Given the description of an element on the screen output the (x, y) to click on. 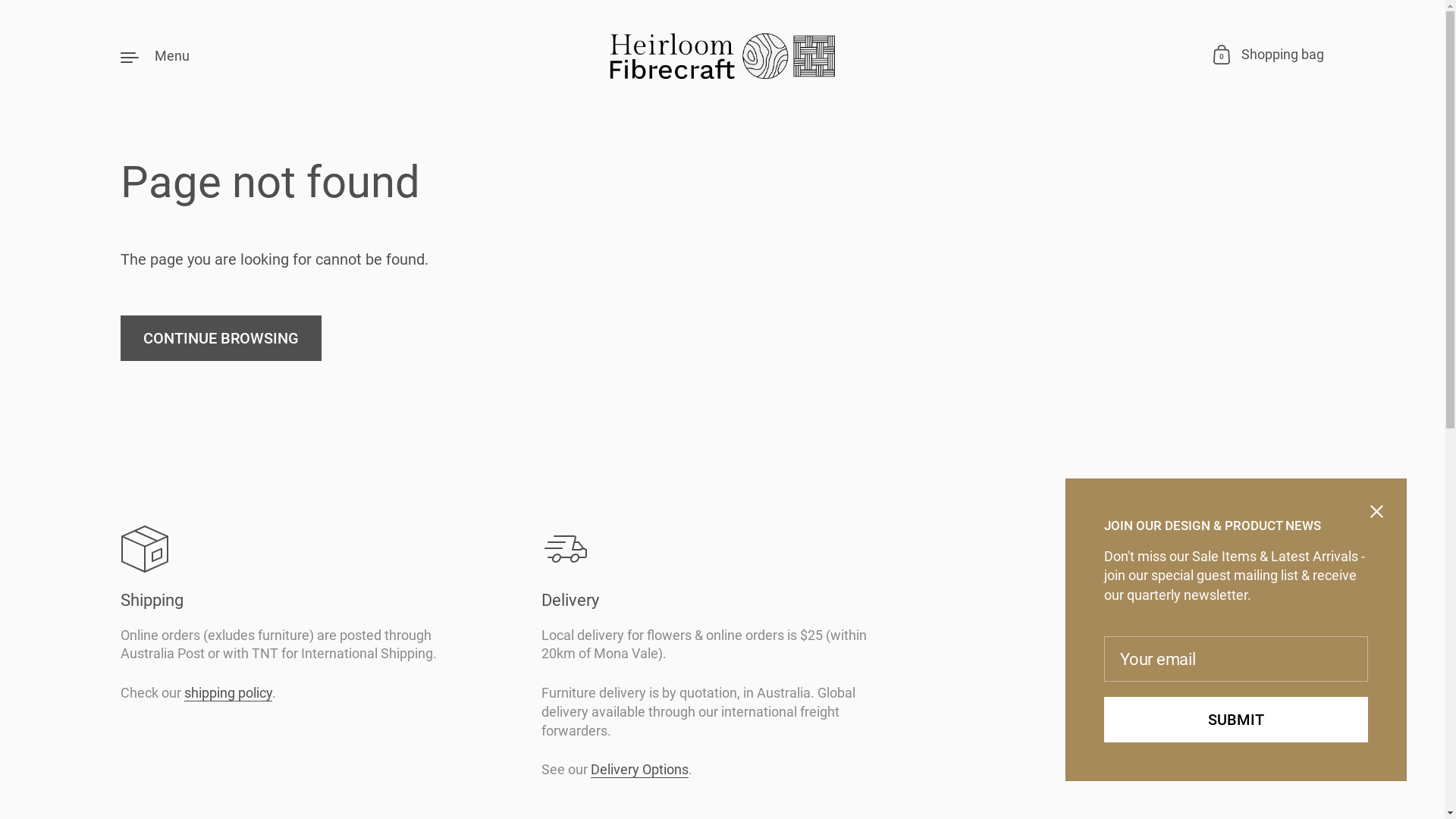
SUBMIT Element type: text (1236, 719)
CONTINUE BROWSING Element type: text (220, 337)
Close Element type: text (1376, 512)
shipping policy Element type: text (228, 693)
0
Shopping bag Element type: text (1268, 56)
Delivery Options Element type: text (639, 770)
Menu Element type: text (154, 56)
Heirloom Fibrecraft | Furniture Homewares Sydney Element type: hover (721, 55)
Skip to content Element type: text (0, 159)
